Given the description of an element on the screen output the (x, y) to click on. 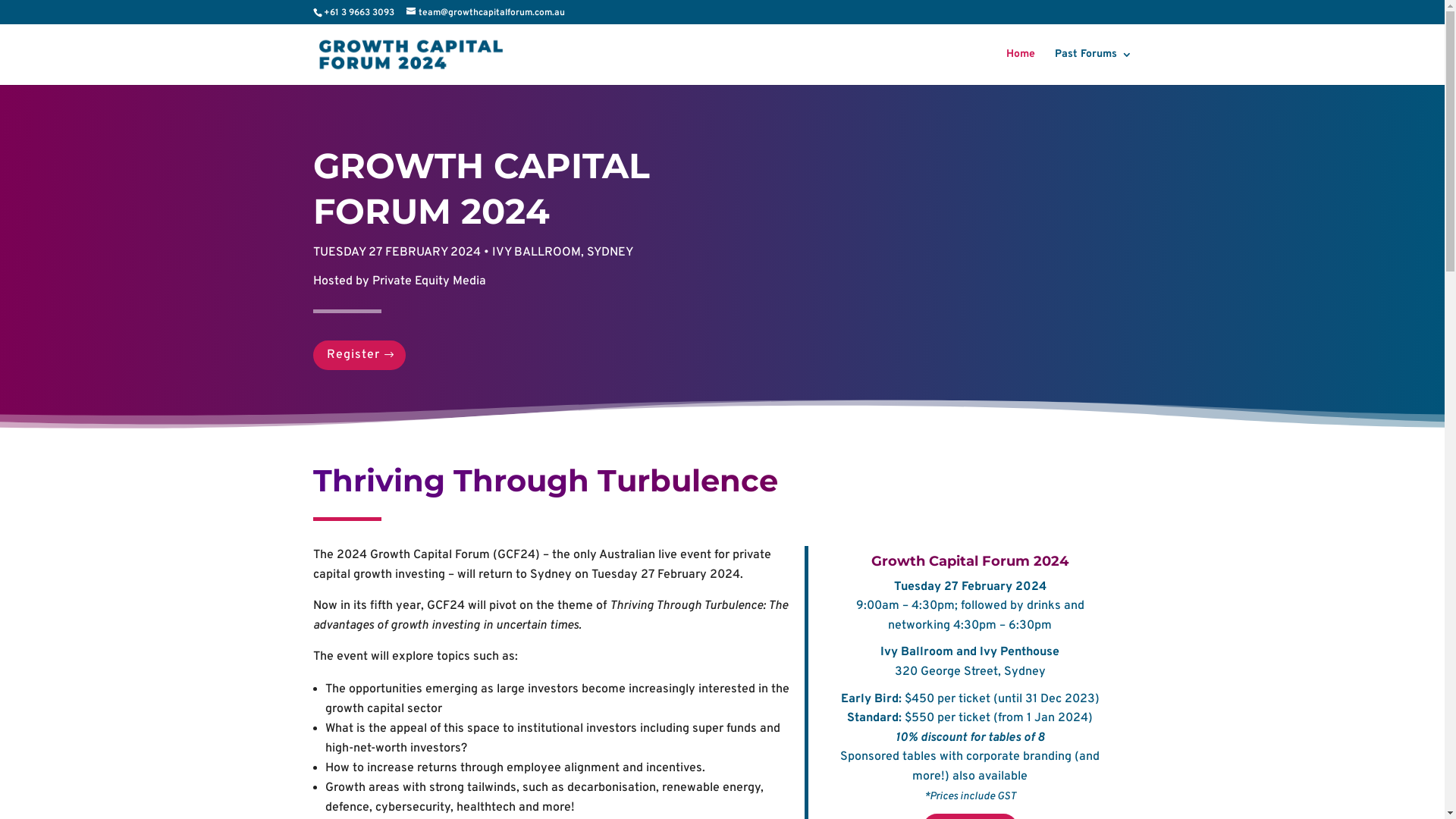
team@growthcapitalforum.com.au Element type: text (485, 12)
Past Forums Element type: text (1092, 66)
Home Element type: text (1019, 66)
Register Element type: text (358, 355)
